Given the description of an element on the screen output the (x, y) to click on. 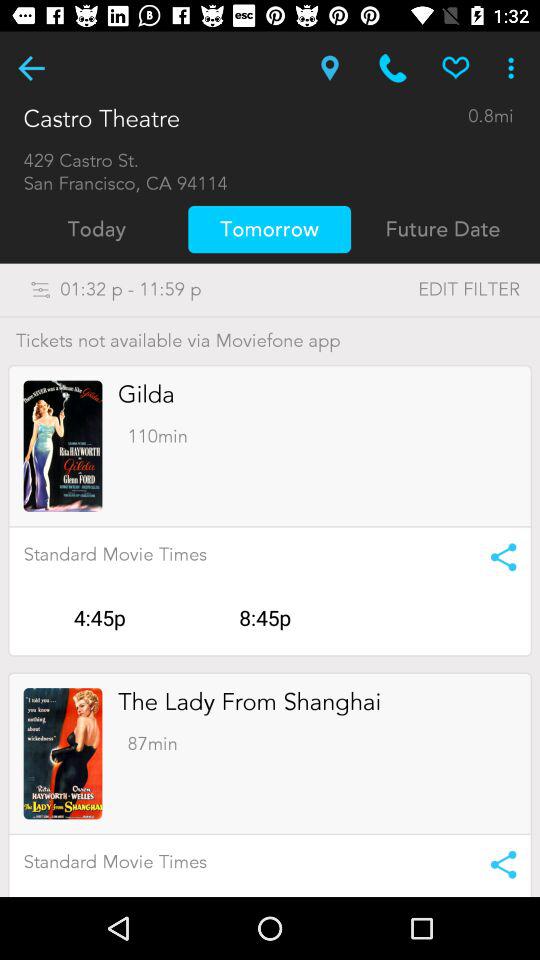
share the movie (496, 864)
